Given the description of an element on the screen output the (x, y) to click on. 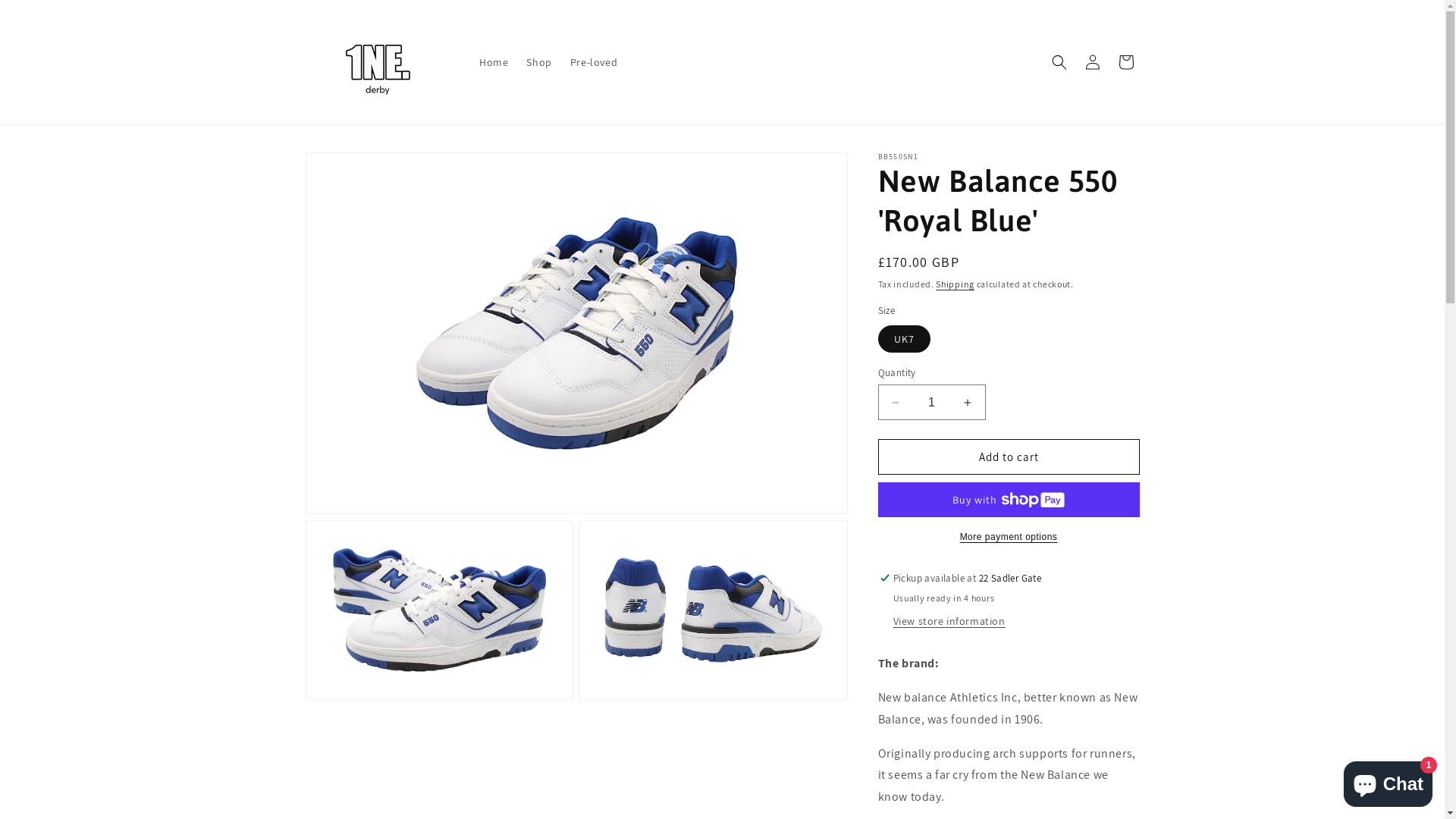
Pre-loved Element type: text (593, 62)
Increase quantity for New Balance 550 &#39;Royal Blue&#39; Element type: text (967, 402)
More payment options Element type: text (1008, 536)
Add to cart Element type: text (1008, 456)
Decrease quantity for New Balance 550 &#39;Royal Blue&#39; Element type: text (895, 402)
View store information Element type: text (949, 621)
Cart Element type: text (1125, 61)
Shopify online store chat Element type: hover (1388, 780)
Skip to product information Element type: text (350, 169)
Log in Element type: text (1091, 61)
Shop Element type: text (538, 62)
Home Element type: text (493, 62)
Shipping Element type: text (954, 283)
